Given the description of an element on the screen output the (x, y) to click on. 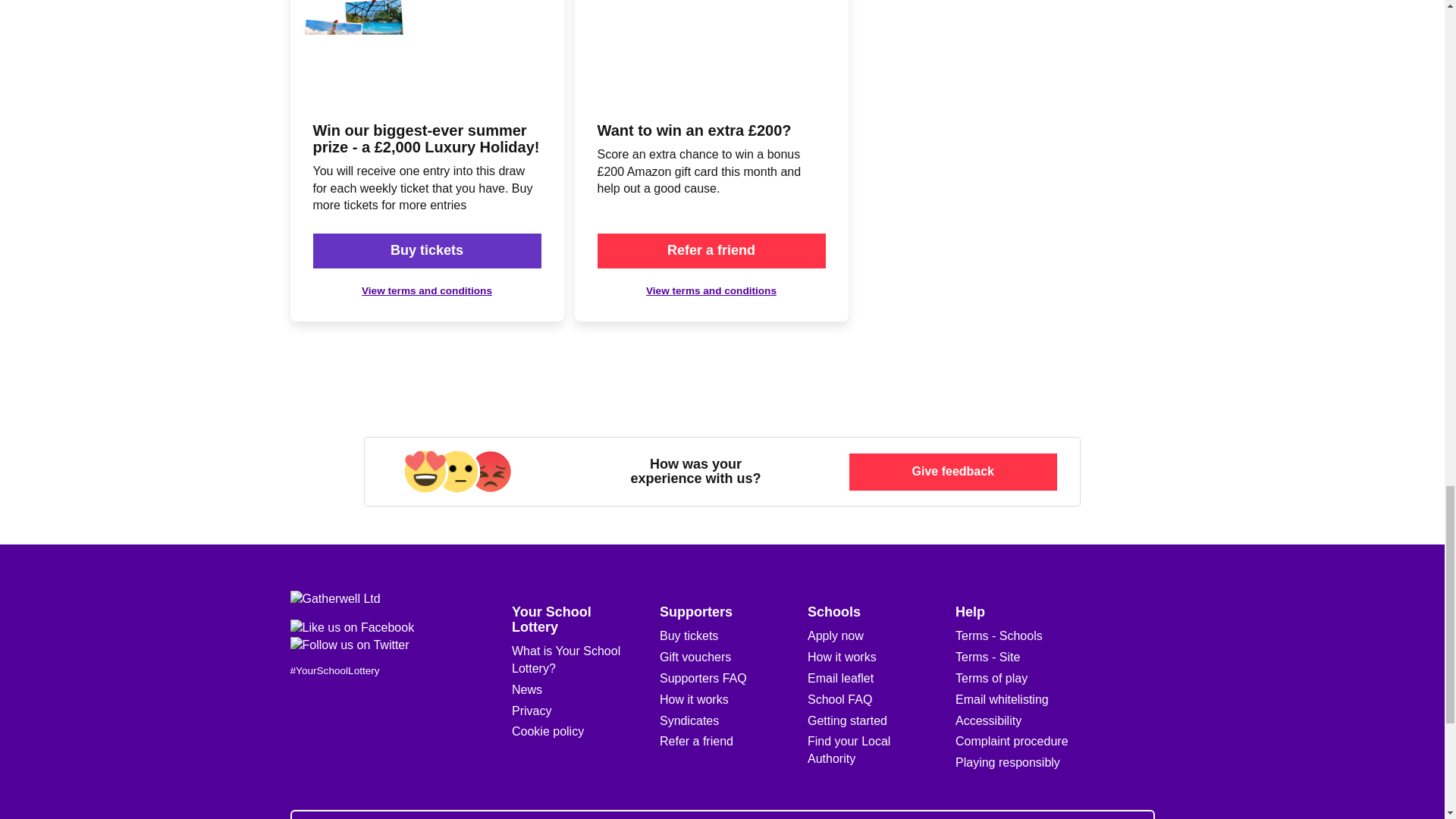
Schools - How it works (842, 656)
Supporters - How it works (694, 698)
View terms and conditions (426, 290)
Refer a friend (710, 250)
Buy tickets (426, 250)
View terms and conditions (710, 290)
